Given the description of an element on the screen output the (x, y) to click on. 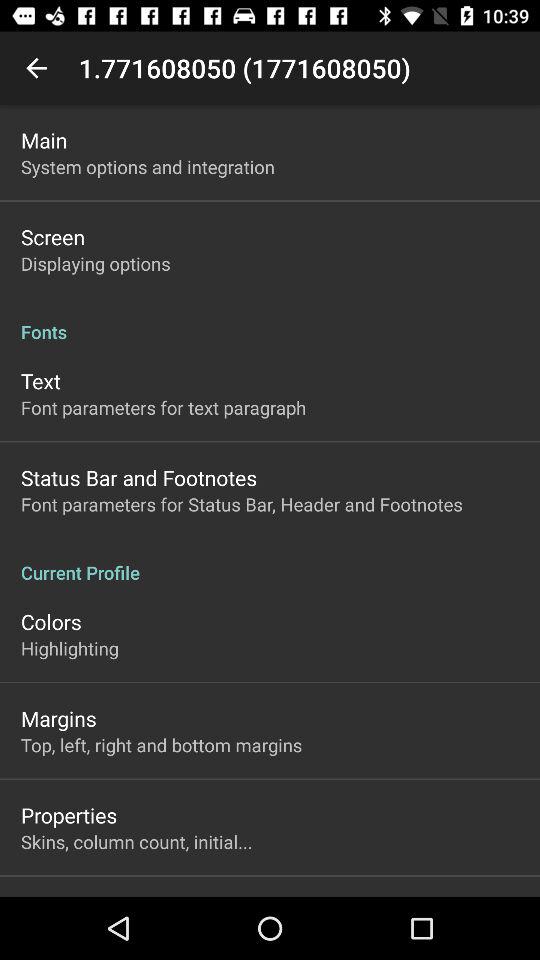
tap the icon to the left of the 1.771608050 (1771608050) icon (36, 68)
